Given the description of an element on the screen output the (x, y) to click on. 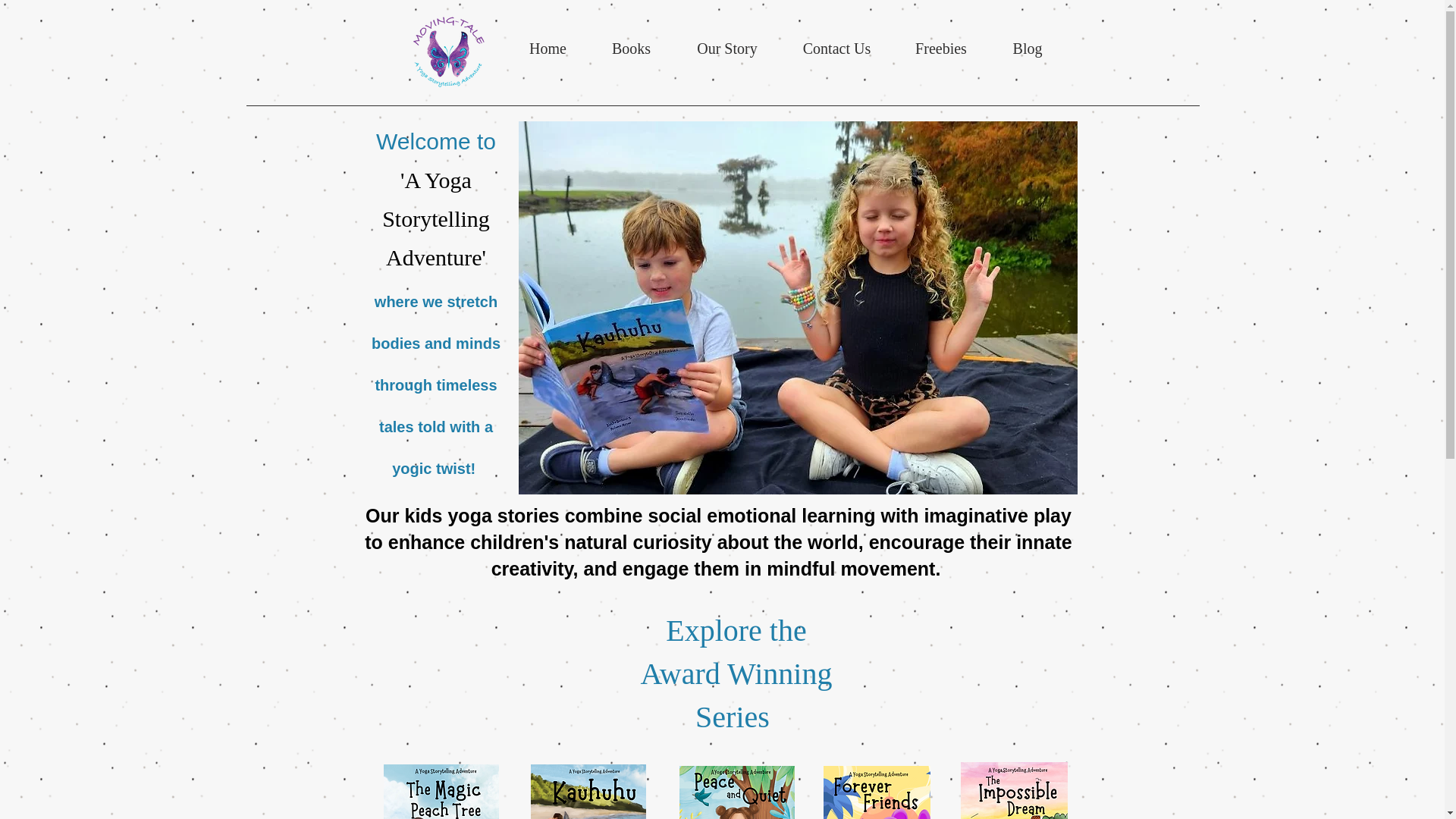
Books (630, 48)
Contact Us (836, 48)
Home (547, 48)
Our Story (726, 48)
Blog (1026, 48)
Freebies (941, 48)
